Given the description of an element on the screen output the (x, y) to click on. 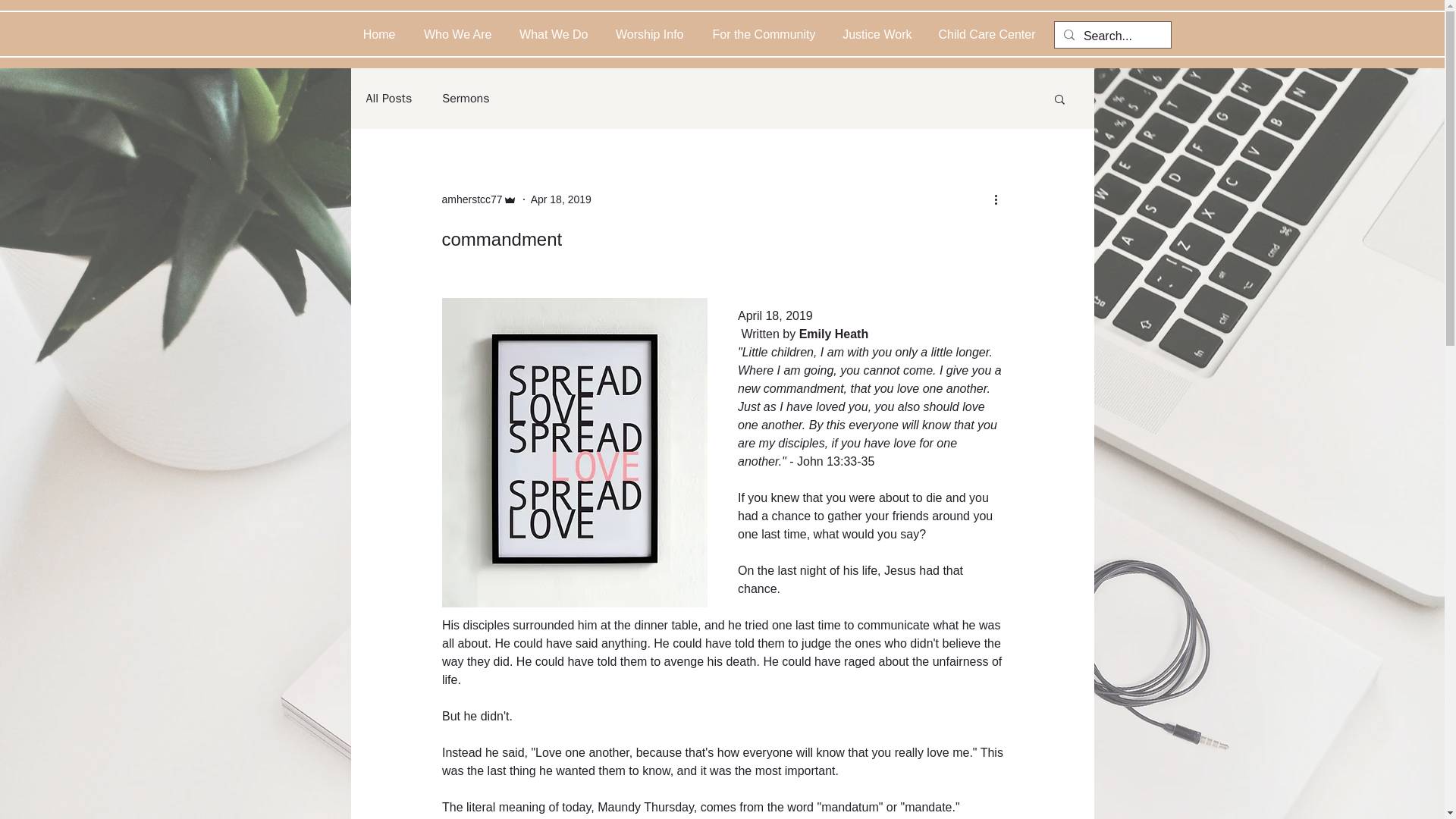
For the Community (760, 34)
Worship Info (646, 34)
Apr 18, 2019 (561, 198)
Sermons (465, 98)
amherstcc77 (478, 198)
All Posts (388, 98)
Home (378, 34)
Child Care Center (984, 34)
Justice Work (875, 34)
Who We Are (454, 34)
amherstcc77 (471, 198)
